Given the description of an element on the screen output the (x, y) to click on. 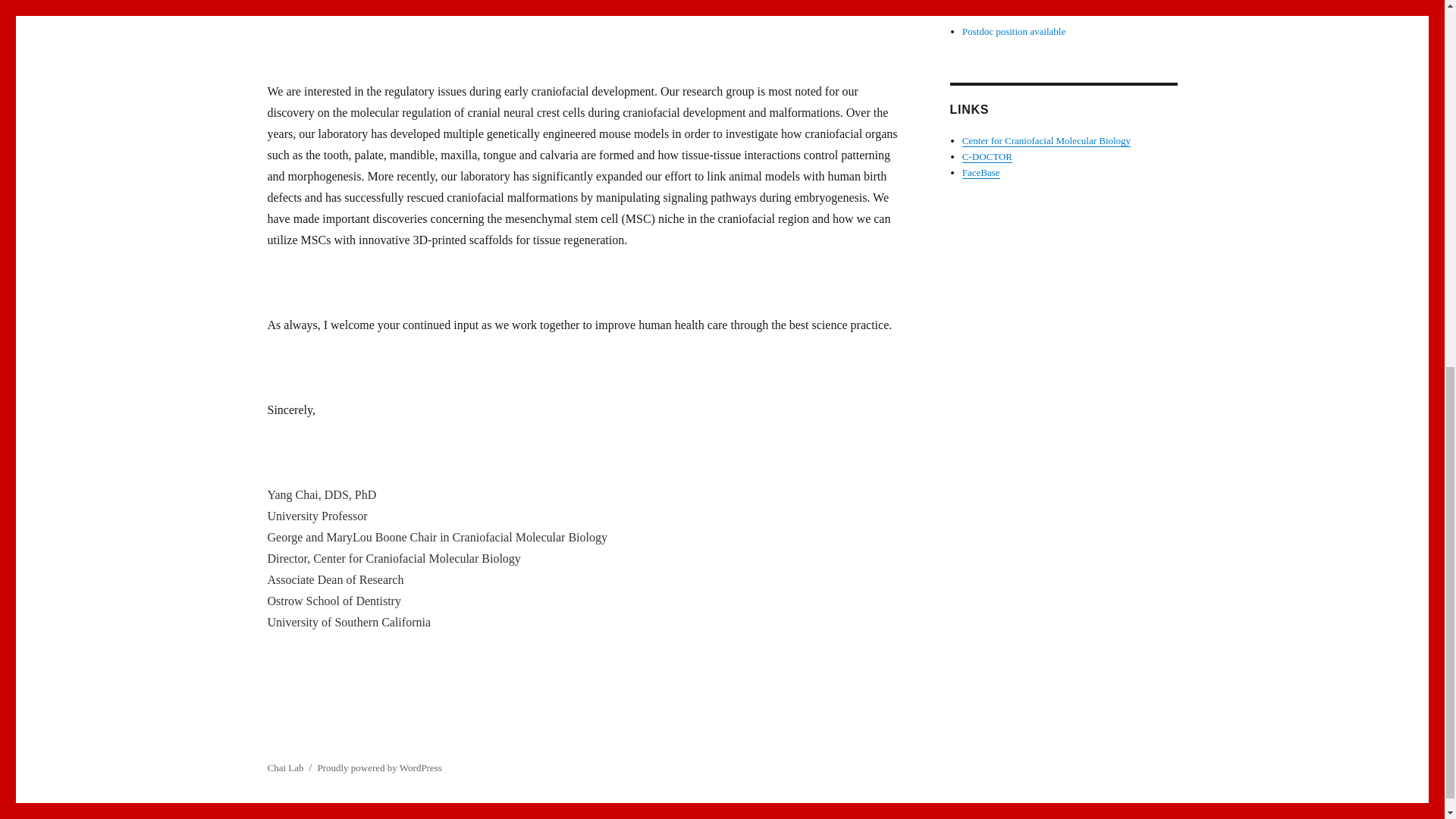
University of Southern California (731, 6)
Center for Craniofacial Molecular Biology (539, 6)
